Given the description of an element on the screen output the (x, y) to click on. 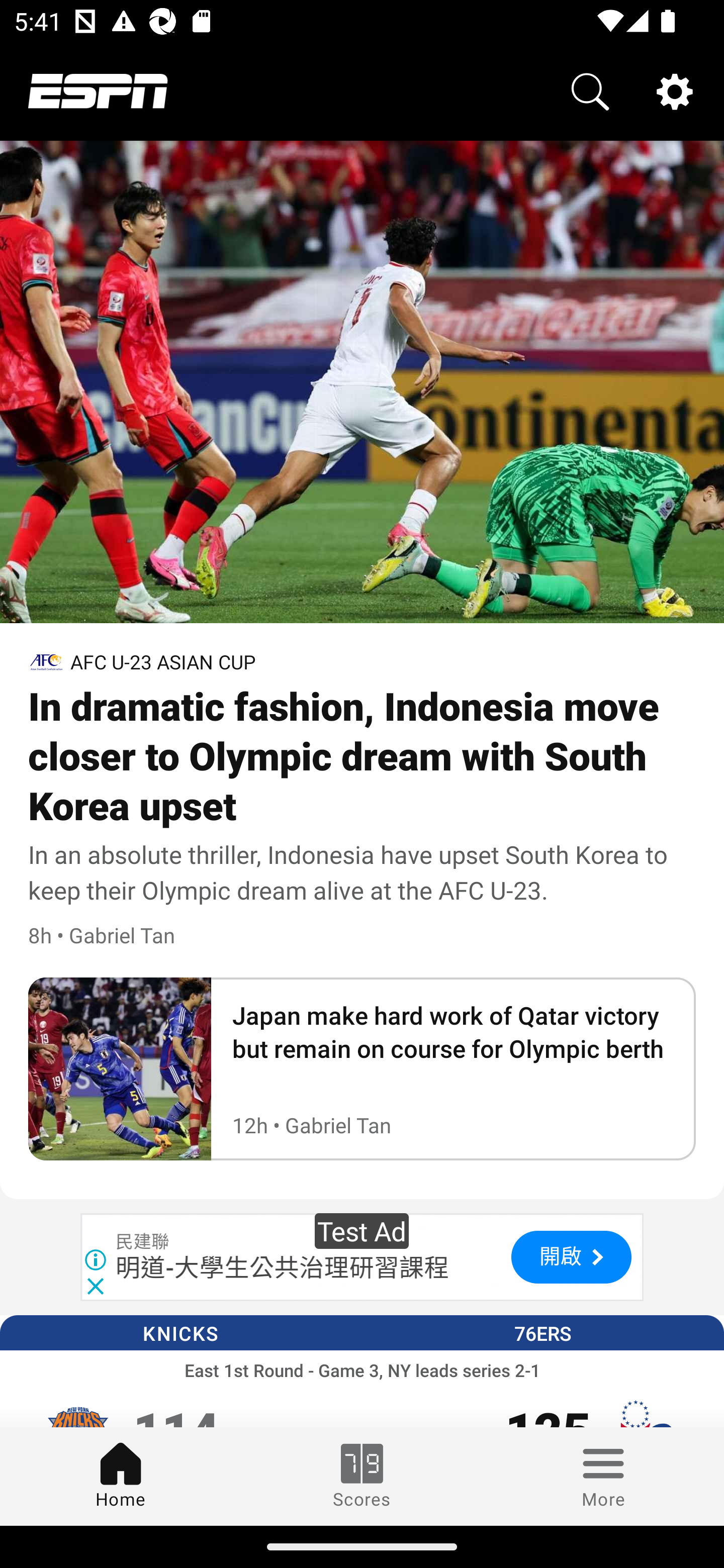
Search (590, 90)
Settings (674, 90)
Scores (361, 1475)
More (603, 1475)
